Given the description of an element on the screen output the (x, y) to click on. 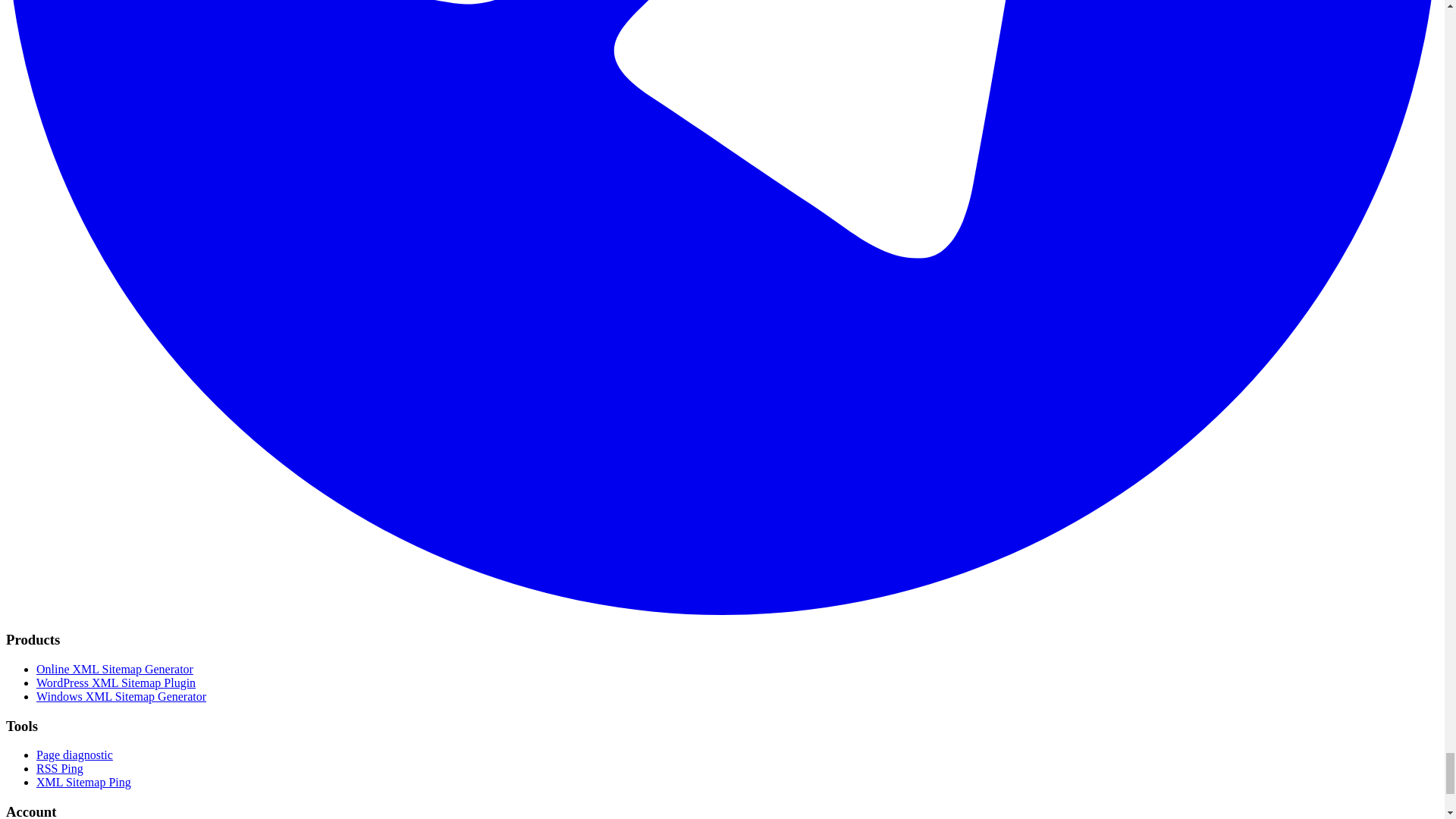
WordPress XML Sitemap Generator Plugin (115, 682)
RSS Ping (59, 768)
RSS Ping tool (59, 768)
XML Sitemap ping tool (83, 781)
WordPress XML Sitemap Plugin (115, 682)
Page diagnostic (74, 754)
Online XML Sitemap Generator (114, 668)
Windows XML Sitemap Generator (121, 696)
XML Sitemap Ping (83, 781)
XML Sitemap Generator Download for Windows (121, 696)
